Given the description of an element on the screen output the (x, y) to click on. 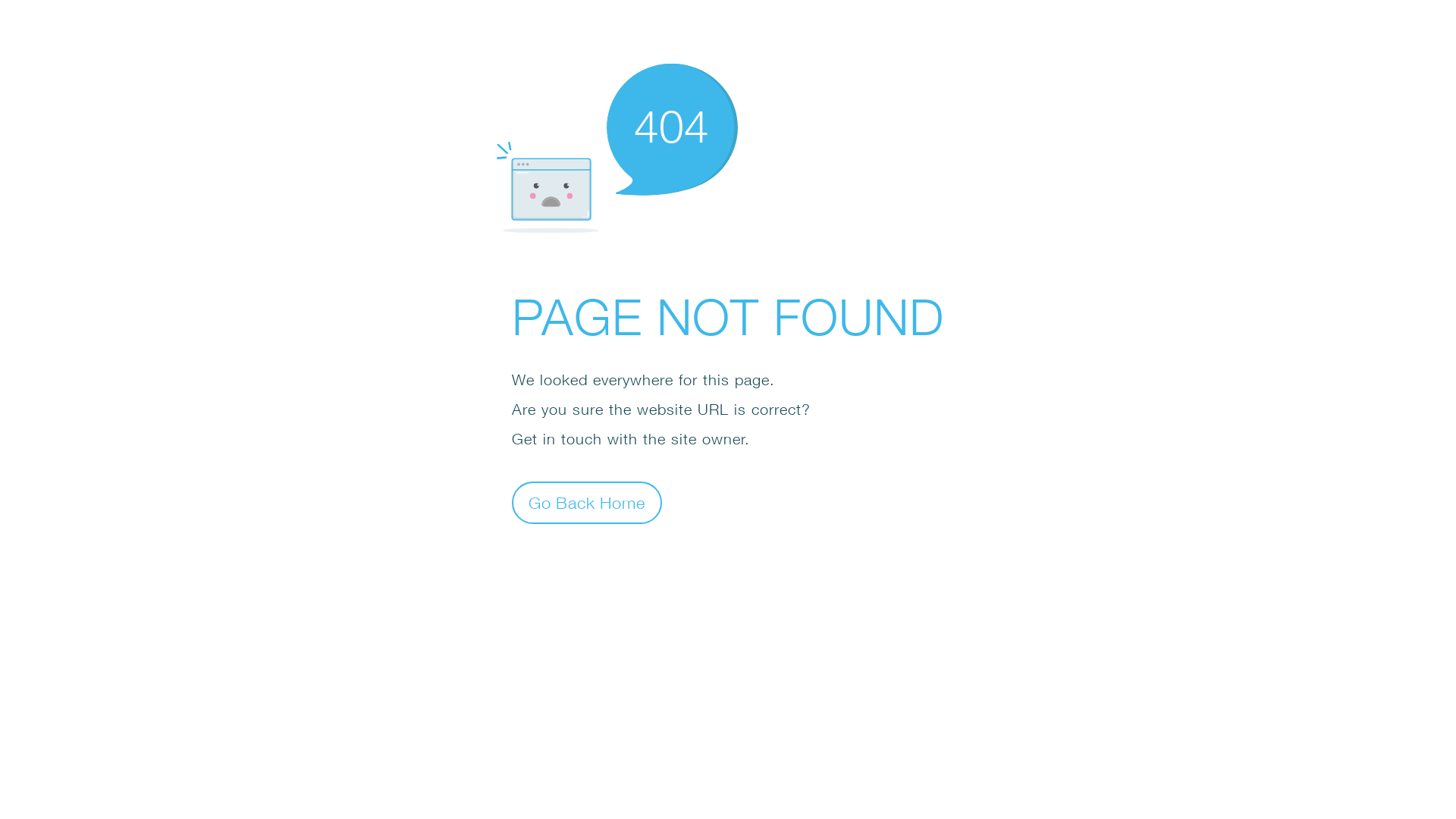
Go Back Home Element type: text (586, 502)
